Given the description of an element on the screen output the (x, y) to click on. 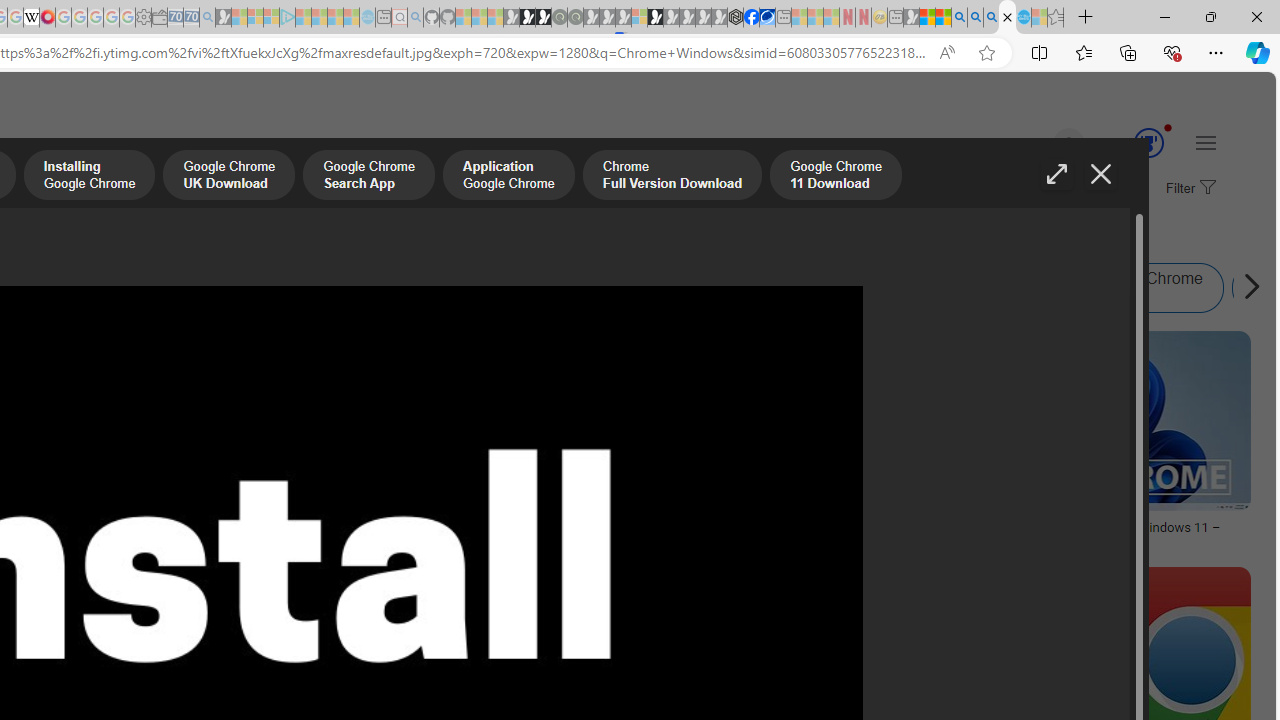
Microsoft Start - Sleeping (335, 17)
Latest Google Chrome Free Download (1256, 287)
Install Google Chrome Browser (204, 287)
Chrome for Windows 11 (930, 287)
Google Chrome 11 Download (835, 177)
Acer Chromebooks (260, 521)
Chrome Download for Windows 8 (694, 287)
Eugene (1041, 143)
Services - Maintenance | Sky Blue Bikes - Sky Blue Bikes (1023, 17)
